Given the description of an element on the screen output the (x, y) to click on. 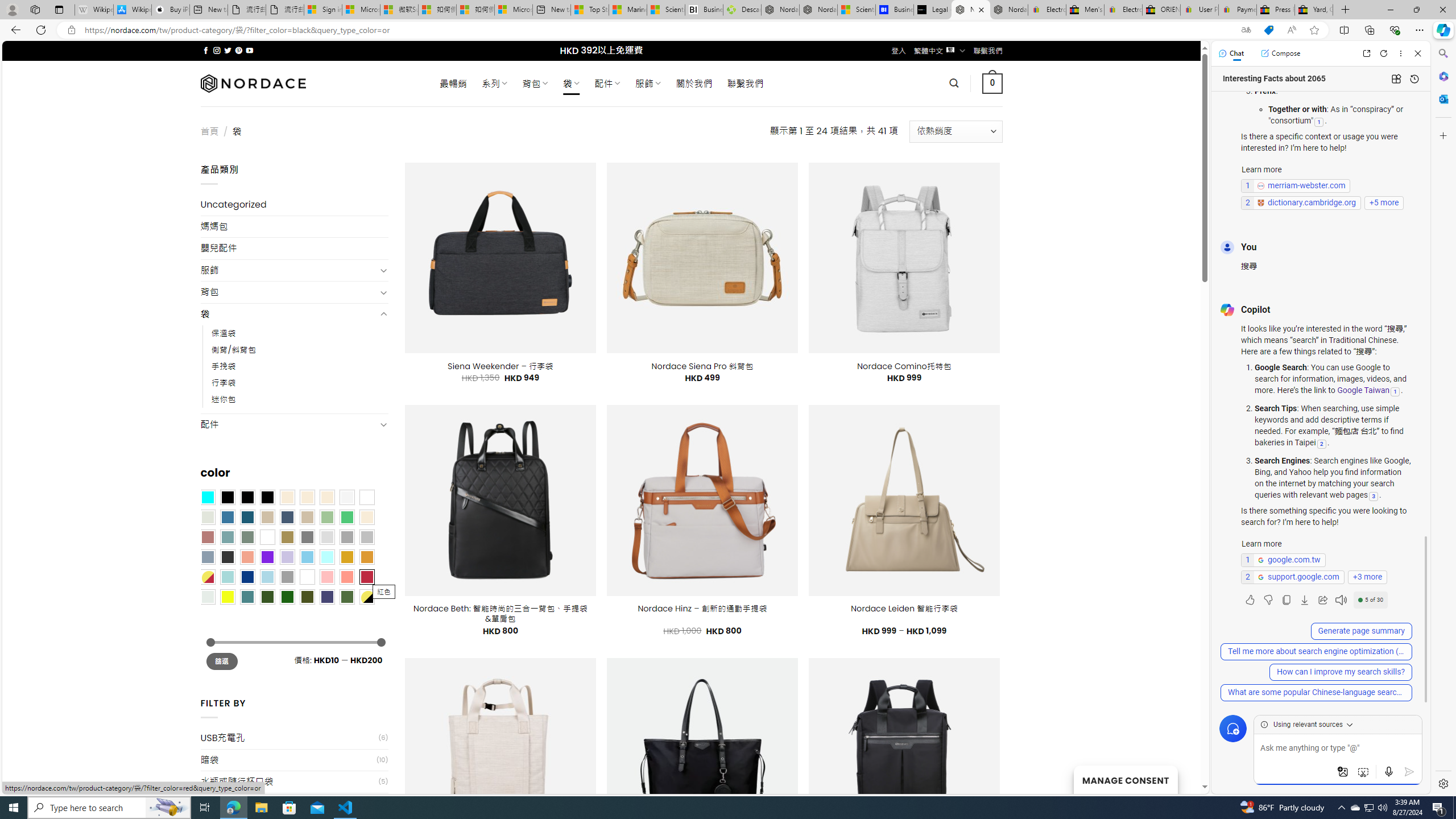
Payments Terms of Use | eBay.com (1237, 9)
Microsoft Services Agreement (360, 9)
